Given the description of an element on the screen output the (x, y) to click on. 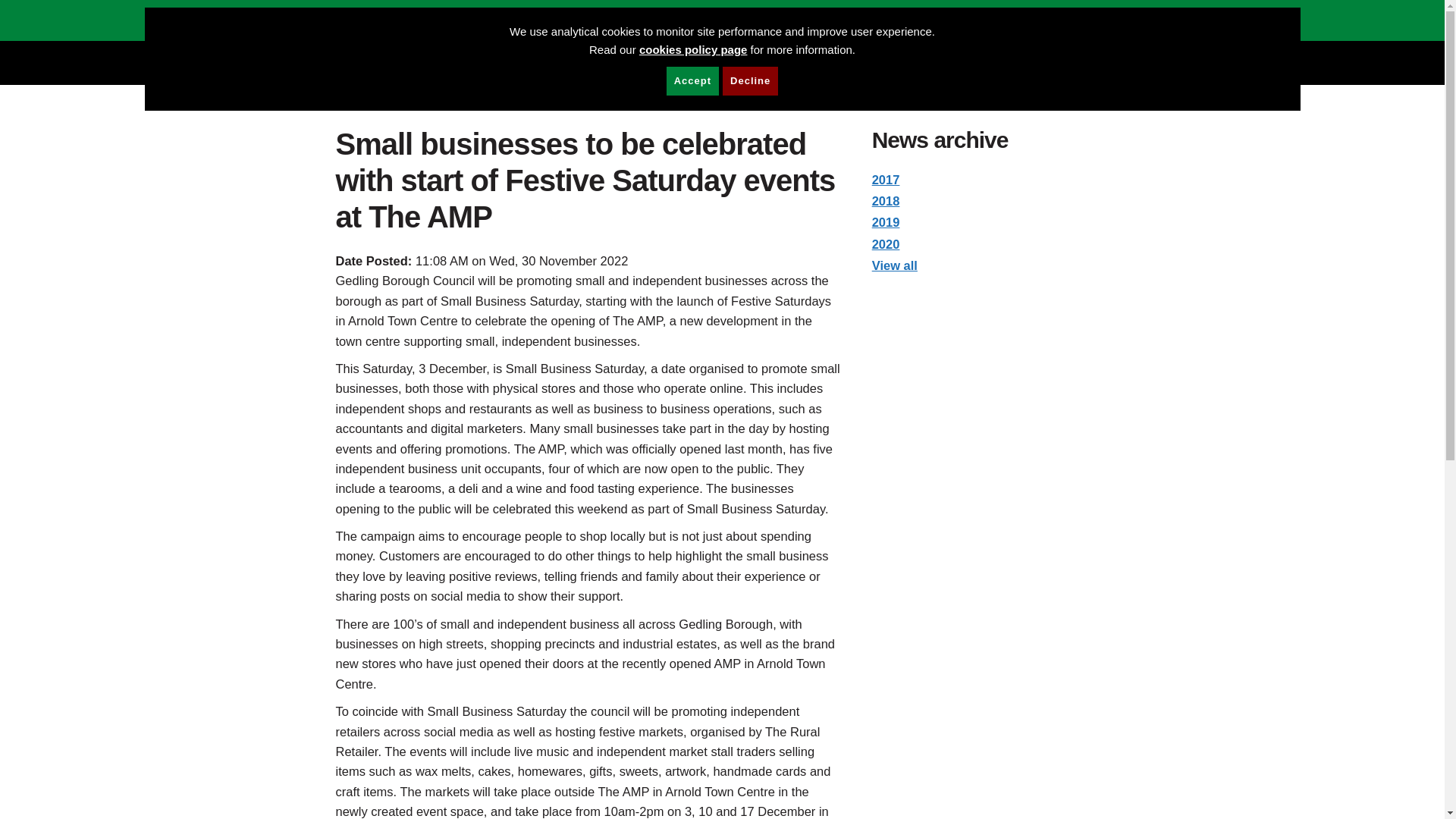
Nominate a local hero today at PrideOfGedling.co.uk (901, 19)
Home (349, 97)
2019 (885, 222)
View all (894, 264)
Articles (527, 97)
2017 (885, 179)
2018 (885, 201)
cookies policy page (693, 49)
Resident (400, 97)
Latest news (465, 97)
